Given the description of an element on the screen output the (x, y) to click on. 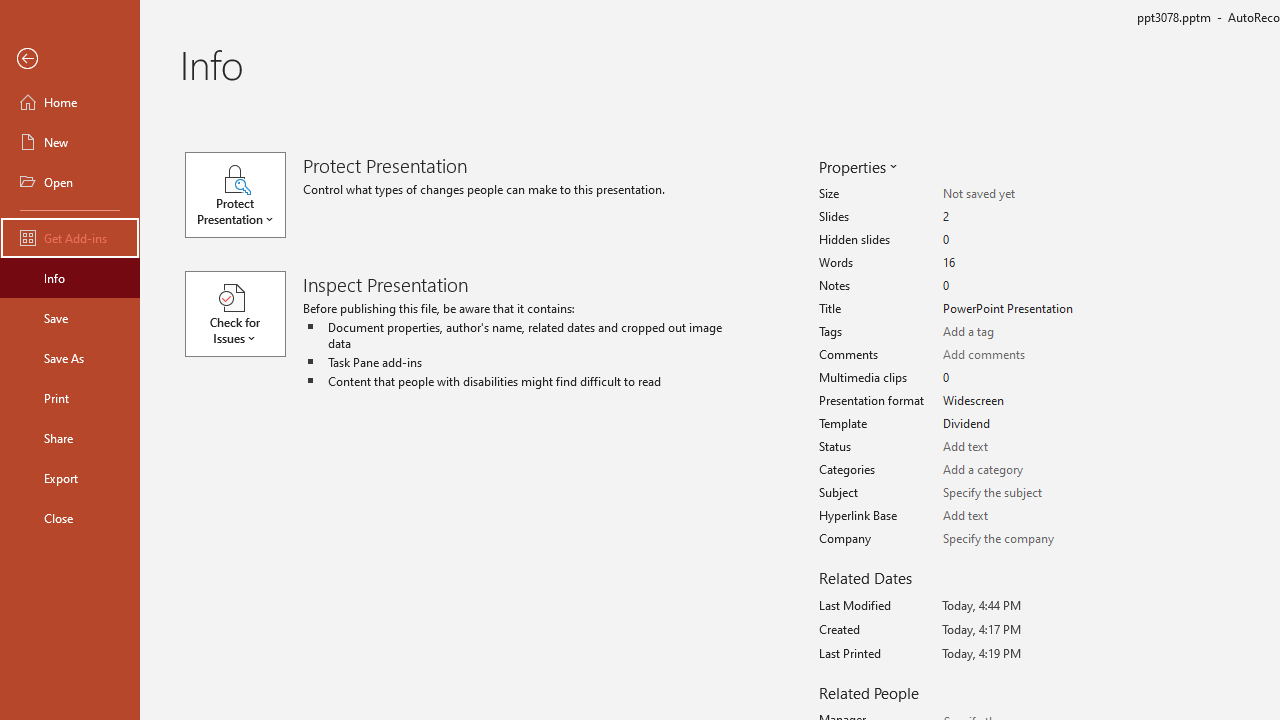
Hidden slides (1012, 240)
Properties (856, 166)
Company (1012, 538)
Check for Issues (244, 313)
Back (69, 59)
Info (69, 277)
Status (1012, 447)
Words (1012, 263)
Save As (69, 357)
Notes (1012, 286)
Tags (1012, 332)
